Given the description of an element on the screen output the (x, y) to click on. 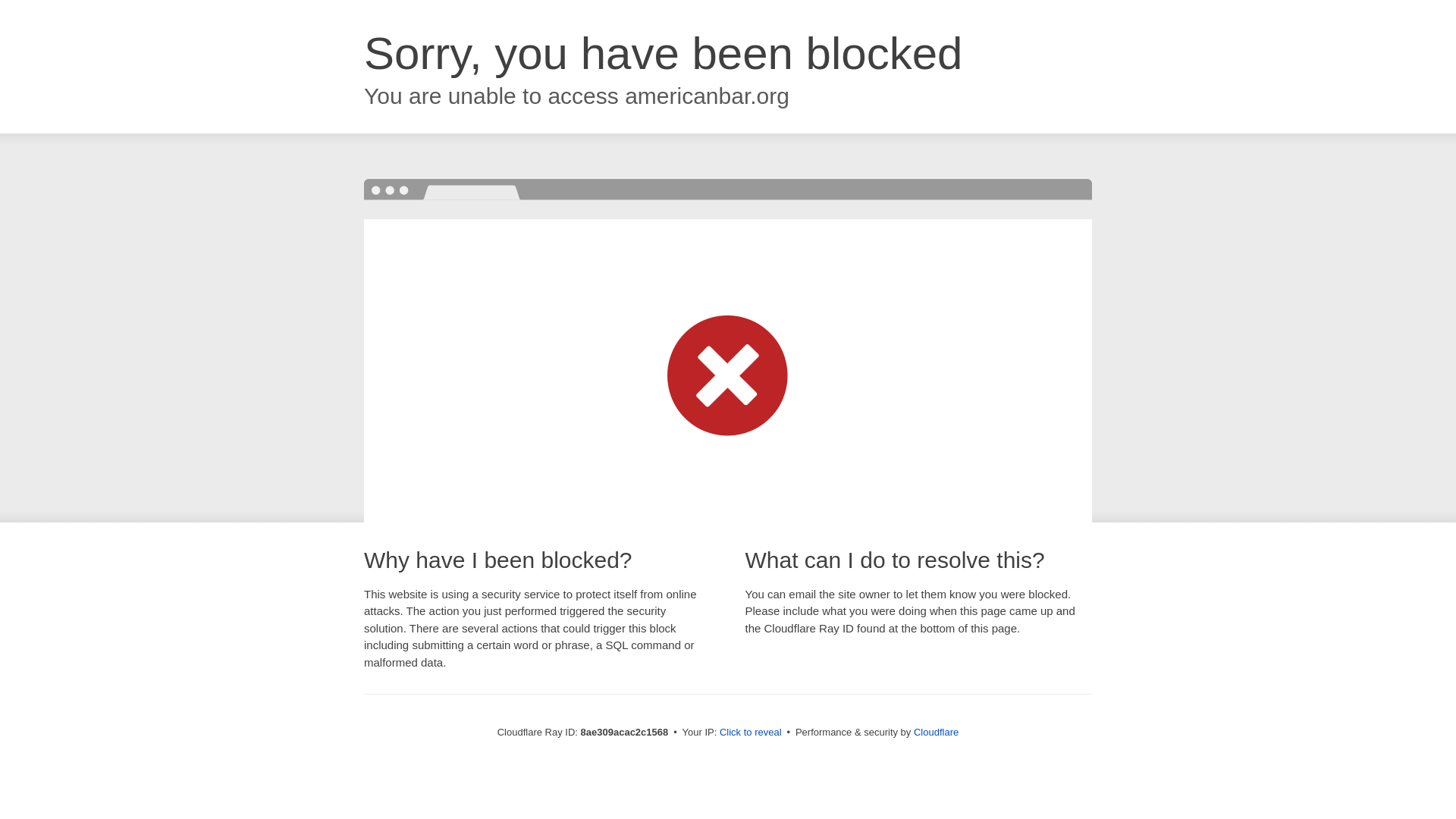
Click to reveal (750, 732)
Cloudflare (936, 731)
